Given the description of an element on the screen output the (x, y) to click on. 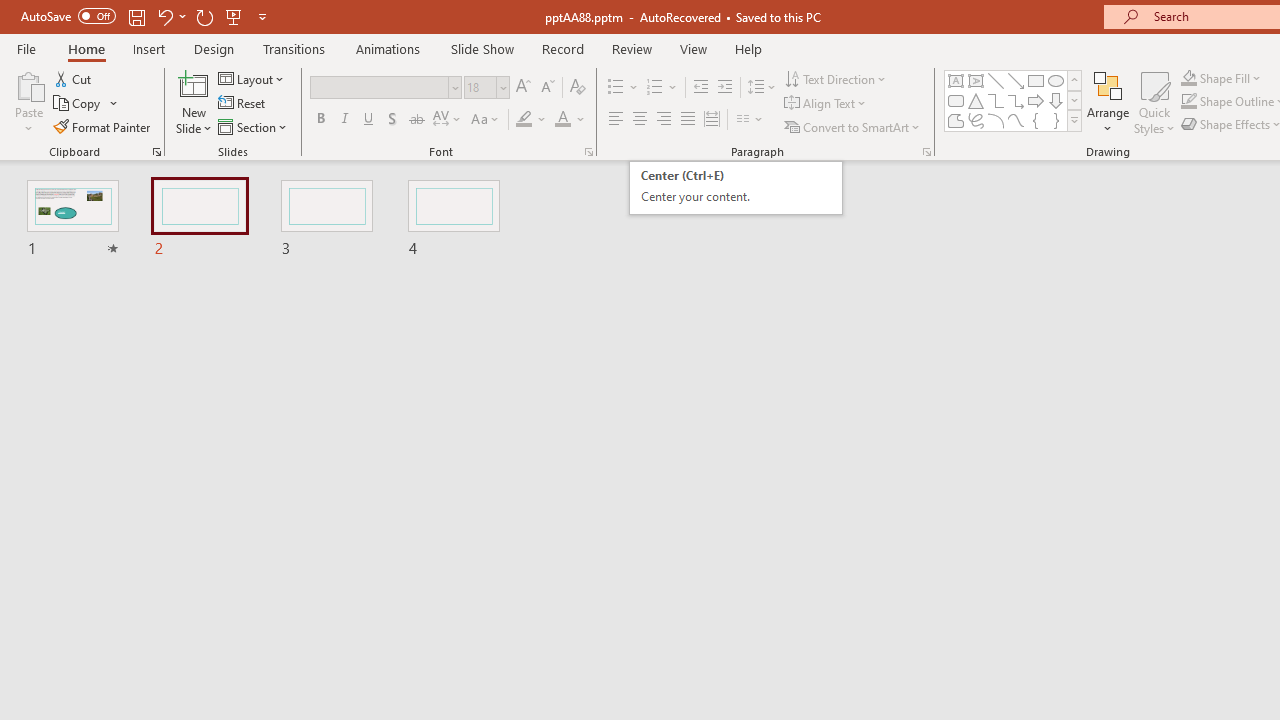
Align Left (616, 119)
Connector: Elbow (995, 100)
Oval (1055, 80)
Left Brace (1035, 120)
Center (639, 119)
Character Spacing (447, 119)
Quick Styles (1154, 102)
Shapes (1074, 120)
Numbering (654, 87)
Decrease Font Size (547, 87)
Arrow: Down (1055, 100)
